Given the description of an element on the screen output the (x, y) to click on. 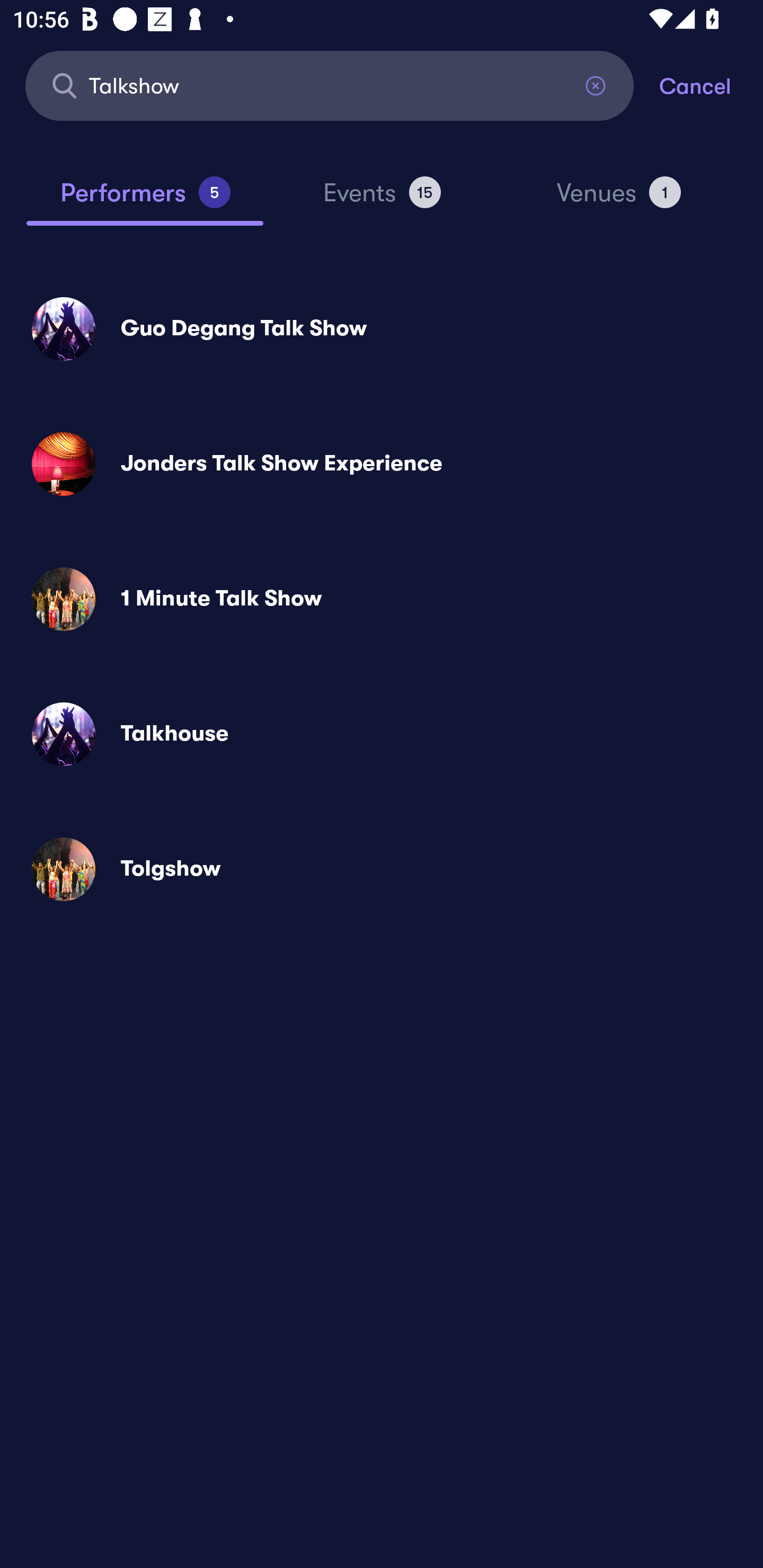
Talkshow Find (329, 85)
Talkshow Find (329, 85)
Cancel (711, 85)
Performers 5 (144, 200)
Events 15 (381, 200)
Venues 1 (618, 200)
Guo Degang Talk Show (381, 328)
Jonders Talk Show Experience (381, 464)
1 Minute Talk Show (381, 598)
Talkhouse (381, 734)
Tolgshow (381, 869)
